Given the description of an element on the screen output the (x, y) to click on. 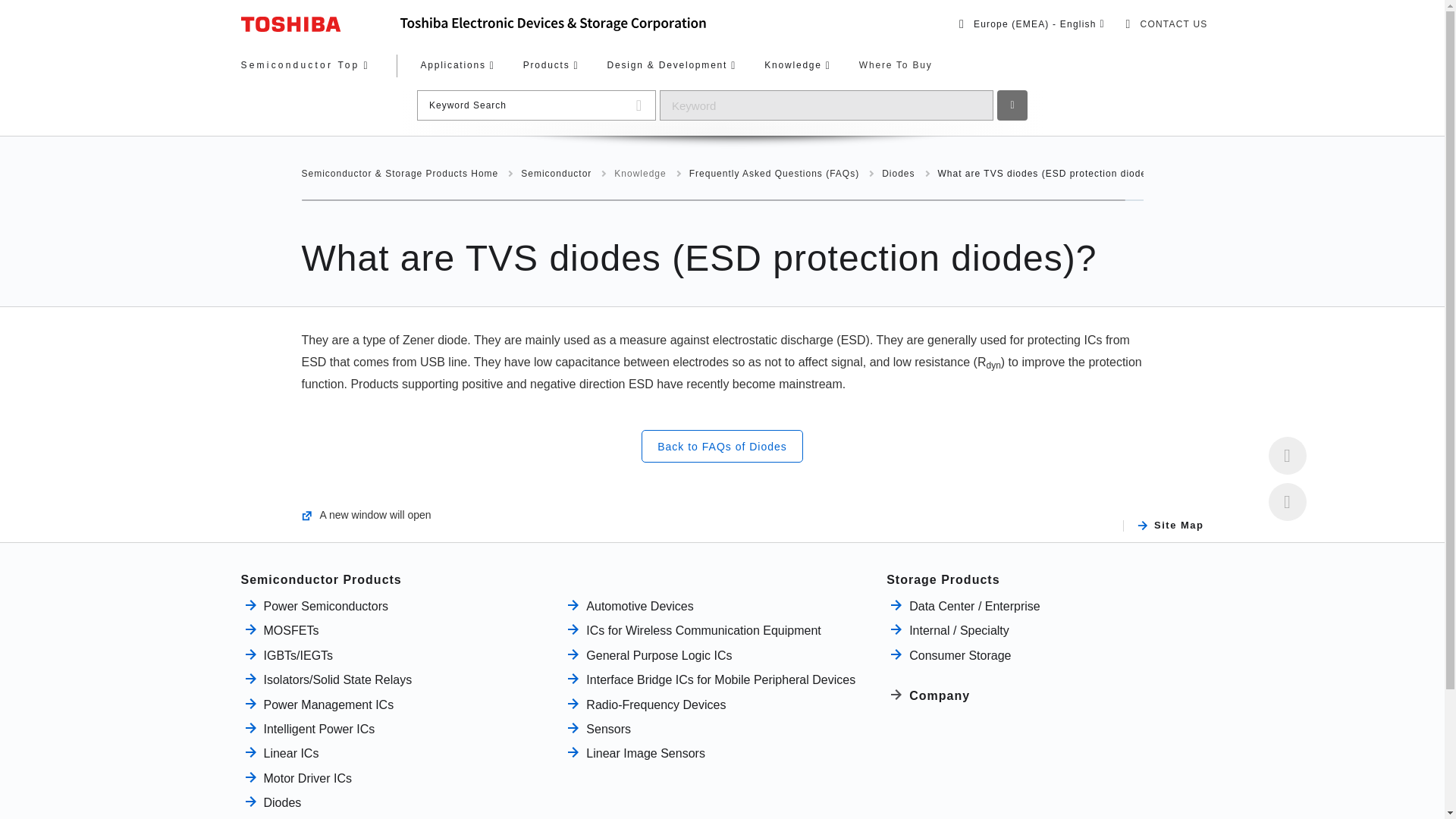
CONTACT US (1166, 24)
Toshiba Global Top Page (320, 24)
